Given the description of an element on the screen output the (x, y) to click on. 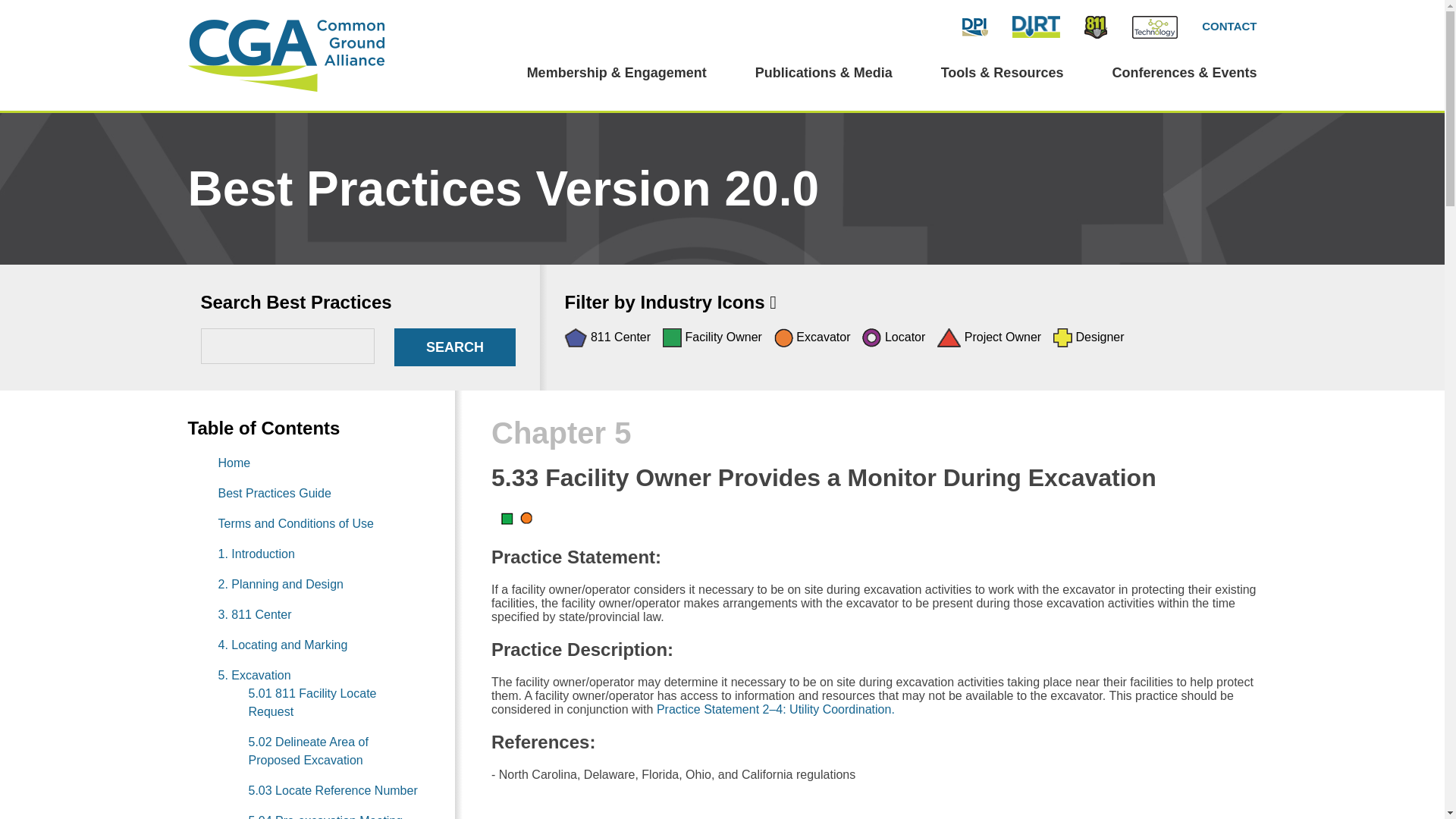
CONTACT (1229, 25)
